Given the description of an element on the screen output the (x, y) to click on. 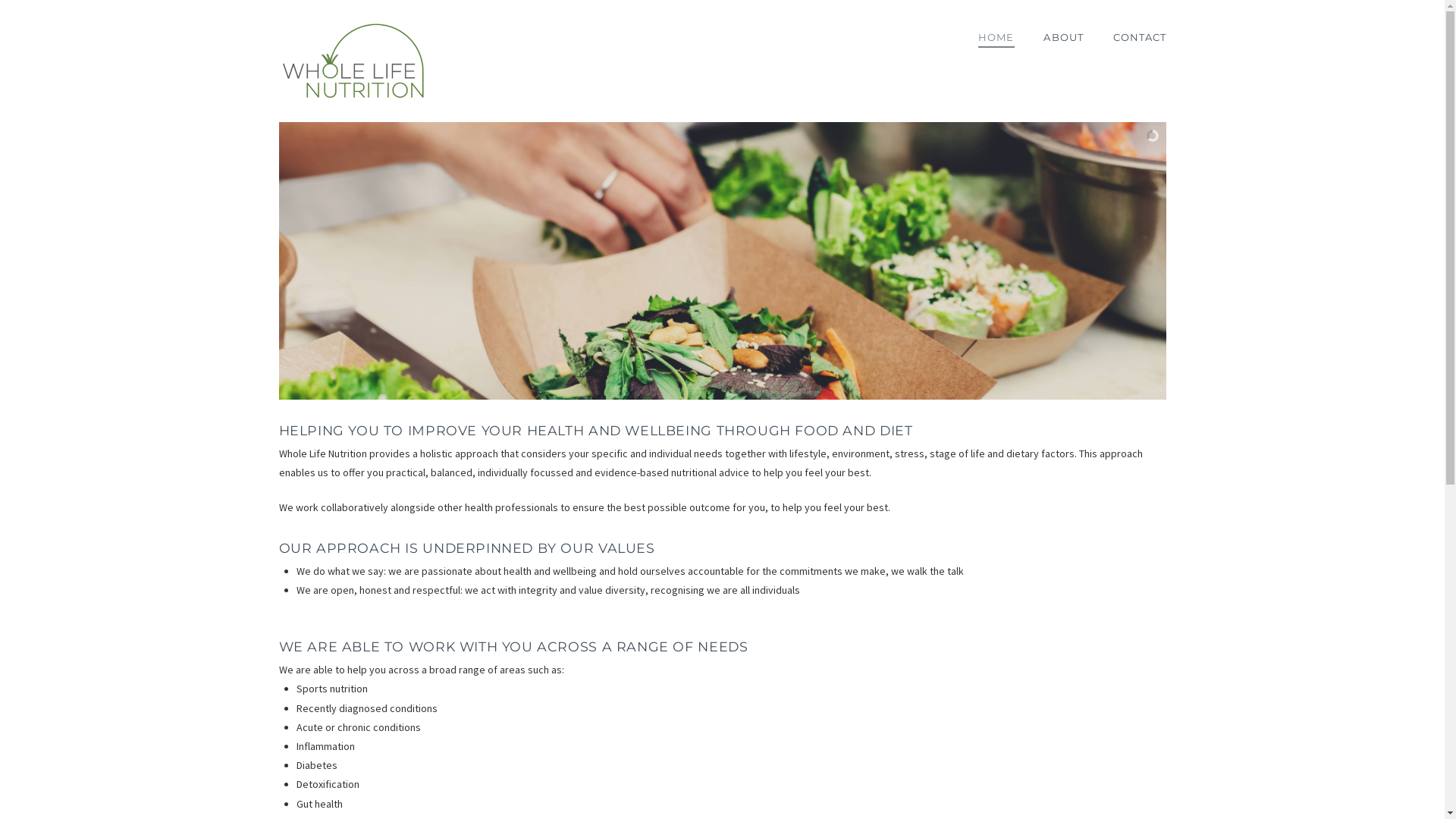
CONTACT Element type: text (1132, 37)
ABOUT Element type: text (1062, 37)
HOME Element type: text (995, 37)
